Given the description of an element on the screen output the (x, y) to click on. 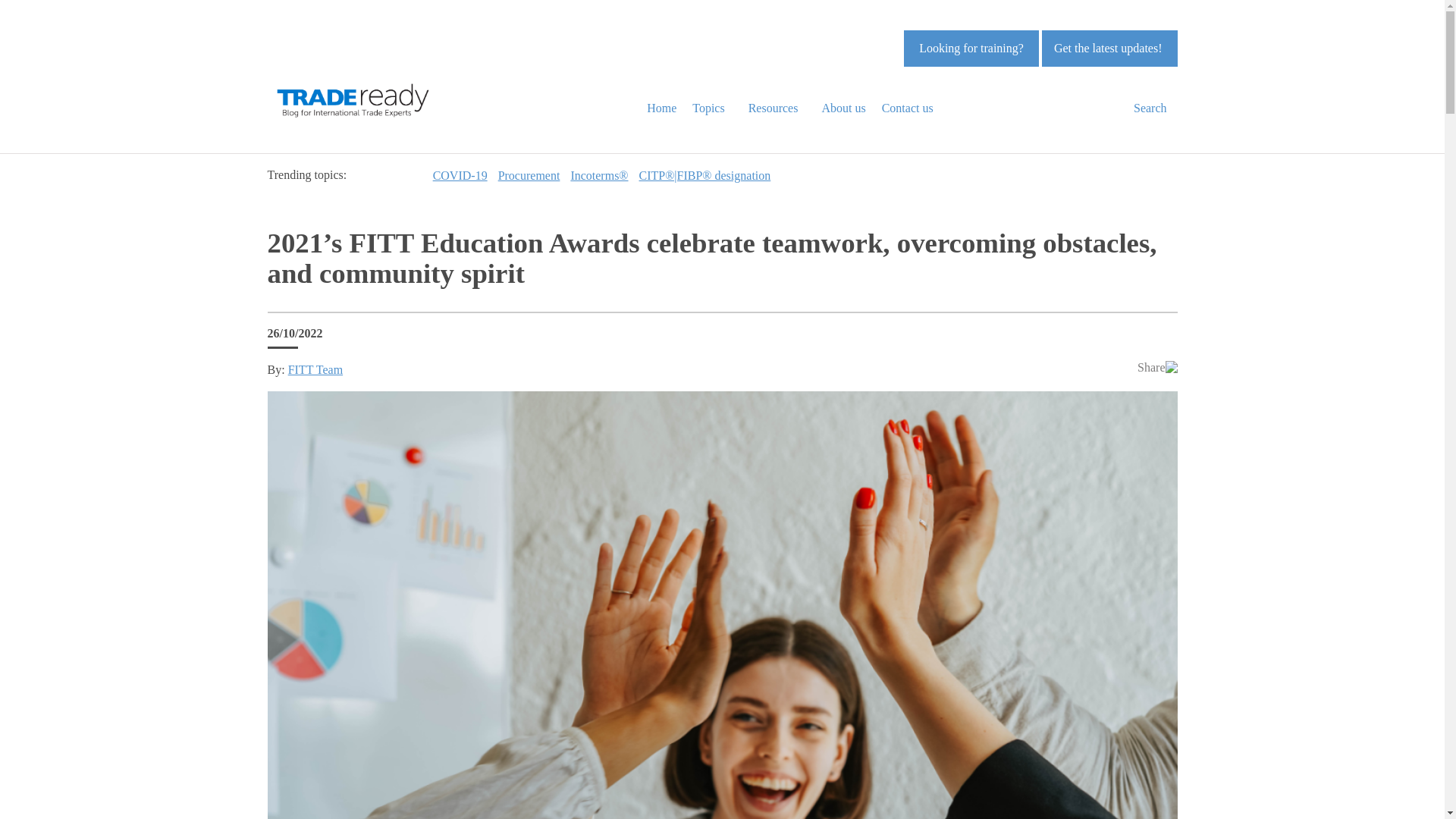
Topics (714, 108)
Posts by FITT Team (315, 369)
Resources (779, 108)
Looking for training? (971, 48)
Home (667, 108)
Get the latest updates! (1108, 48)
